Given the description of an element on the screen output the (x, y) to click on. 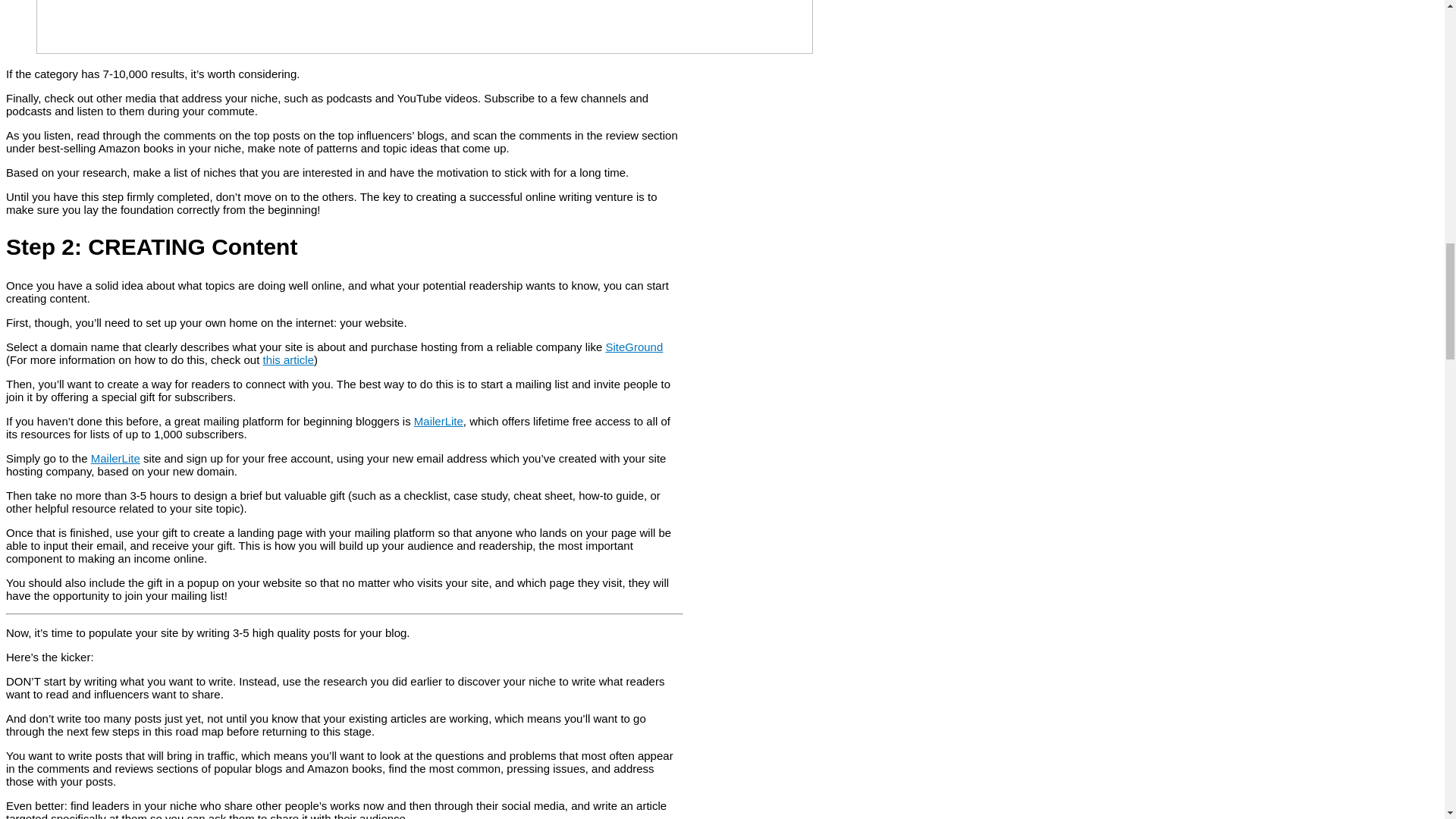
MailerLite (438, 420)
this article (288, 359)
MailerLite (114, 458)
SiteGround (633, 346)
